Given the description of an element on the screen output the (x, y) to click on. 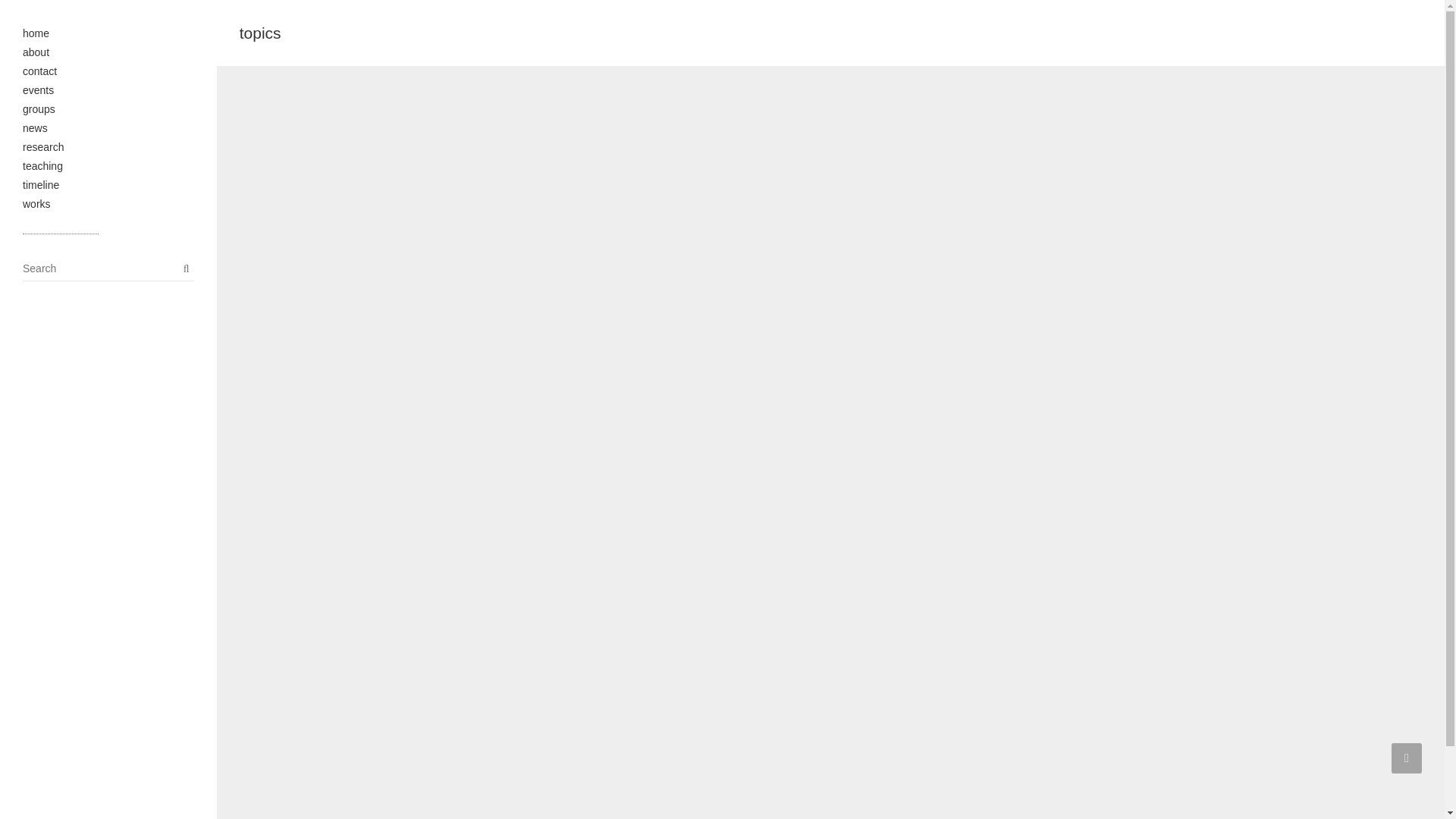
Speech technology for language learning (379, 691)
Go to Top (1406, 757)
Sound in mind (679, 445)
home (36, 33)
Acoustic detection of snoring (379, 445)
groups (39, 109)
research (43, 146)
Machine listening in artistic contexts (1282, 200)
events (38, 90)
Hearing aids for music (980, 200)
